Given the description of an element on the screen output the (x, y) to click on. 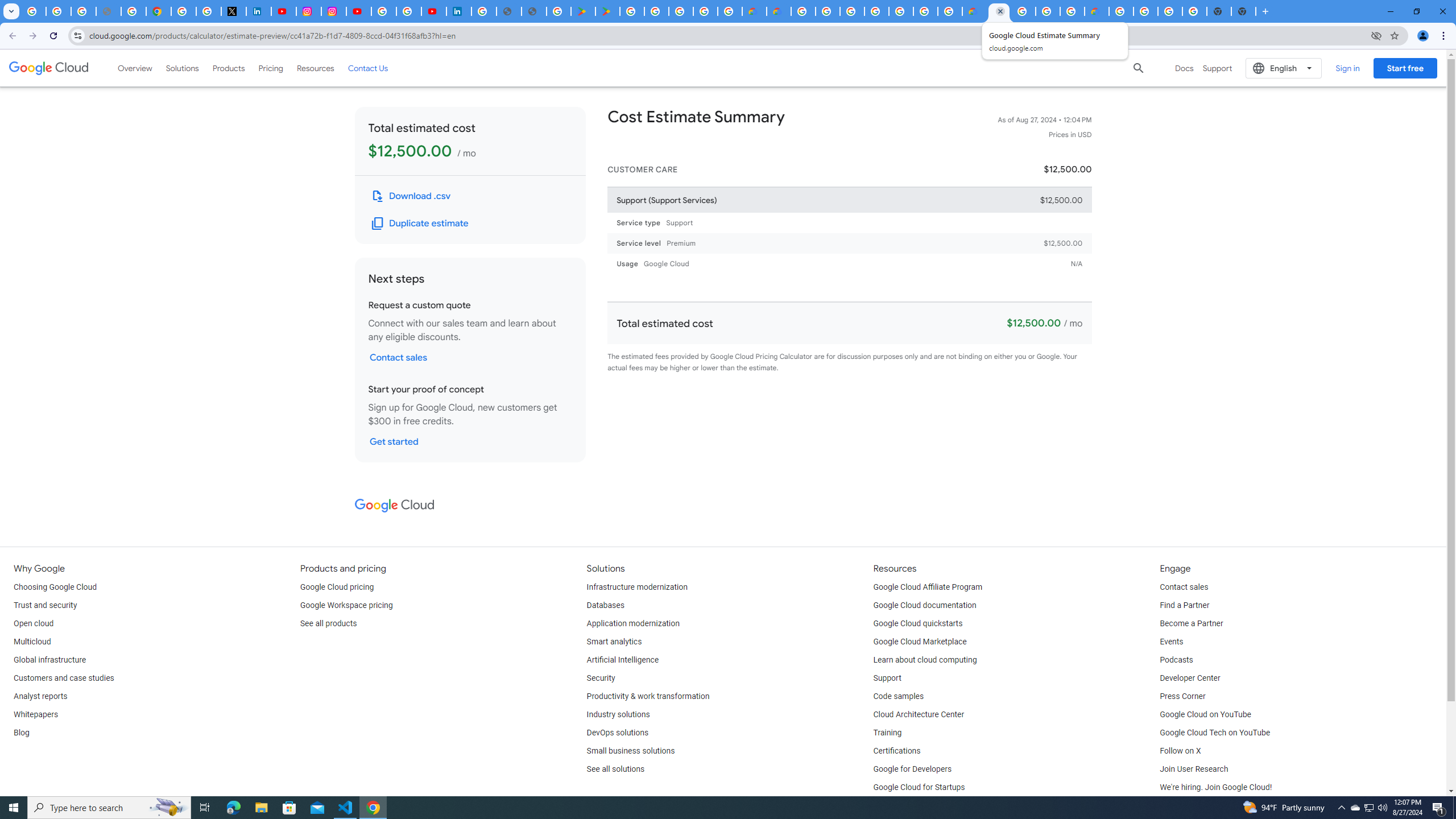
Google Workspace - Specific Terms (728, 11)
Android Apps on Google Play (582, 11)
Artificial Intelligence (622, 660)
Google Cloud for Startups (919, 787)
Google Cloud Platform (803, 11)
Learn about cloud computing (924, 660)
Trust and security (45, 605)
Analyst reports (39, 696)
Google Workspace - Specific Terms (705, 11)
Customers and case studies (64, 678)
Infrastructure modernization (637, 587)
Customer Care | Google Cloud (753, 11)
